Given the description of an element on the screen output the (x, y) to click on. 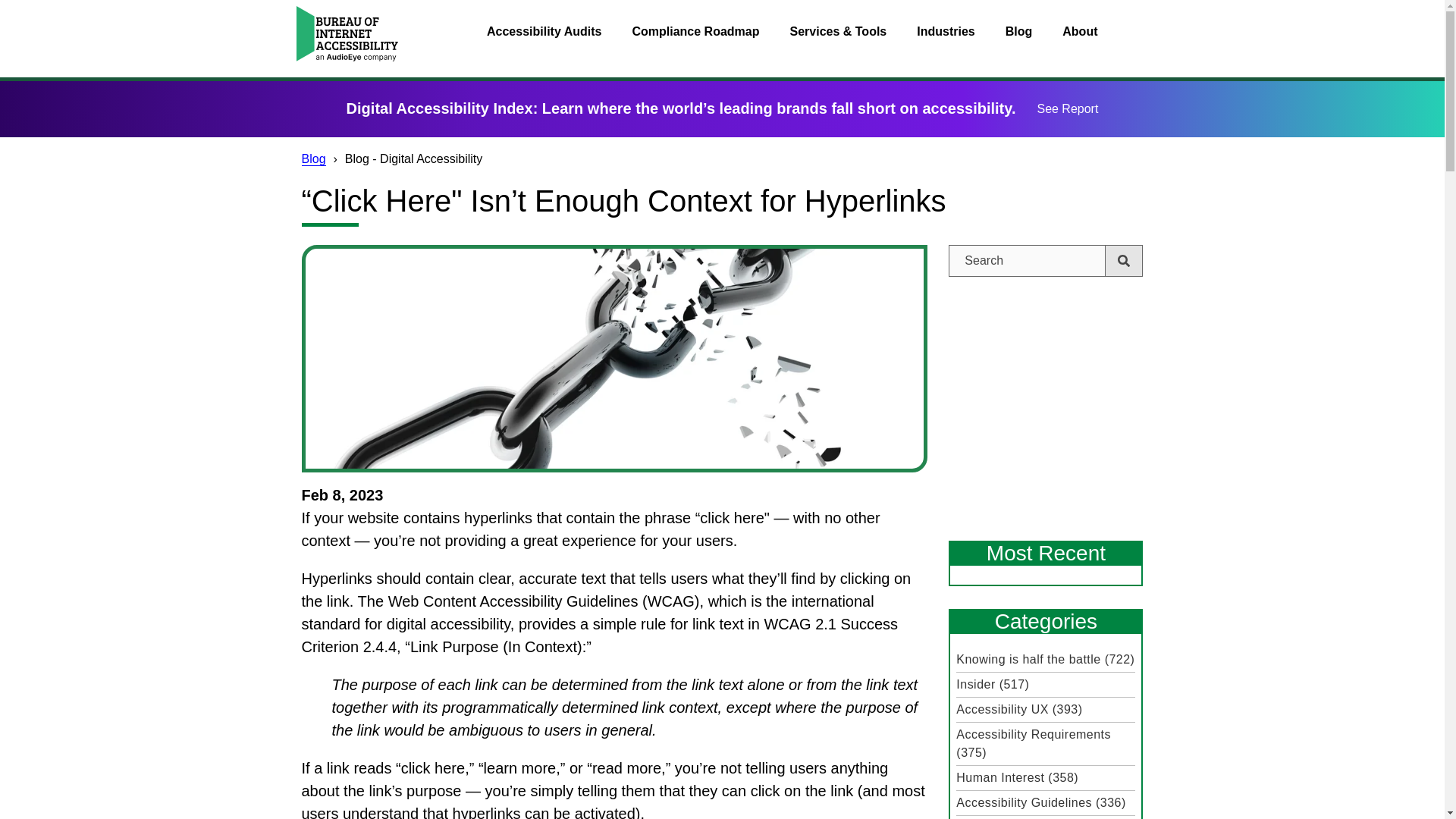
Accessibility Audits (543, 31)
Publish Date (614, 495)
Homepage for Bureau of Internet Accessibility (346, 33)
Industries (945, 31)
Compliance Roadmap (694, 31)
